Given the description of an element on the screen output the (x, y) to click on. 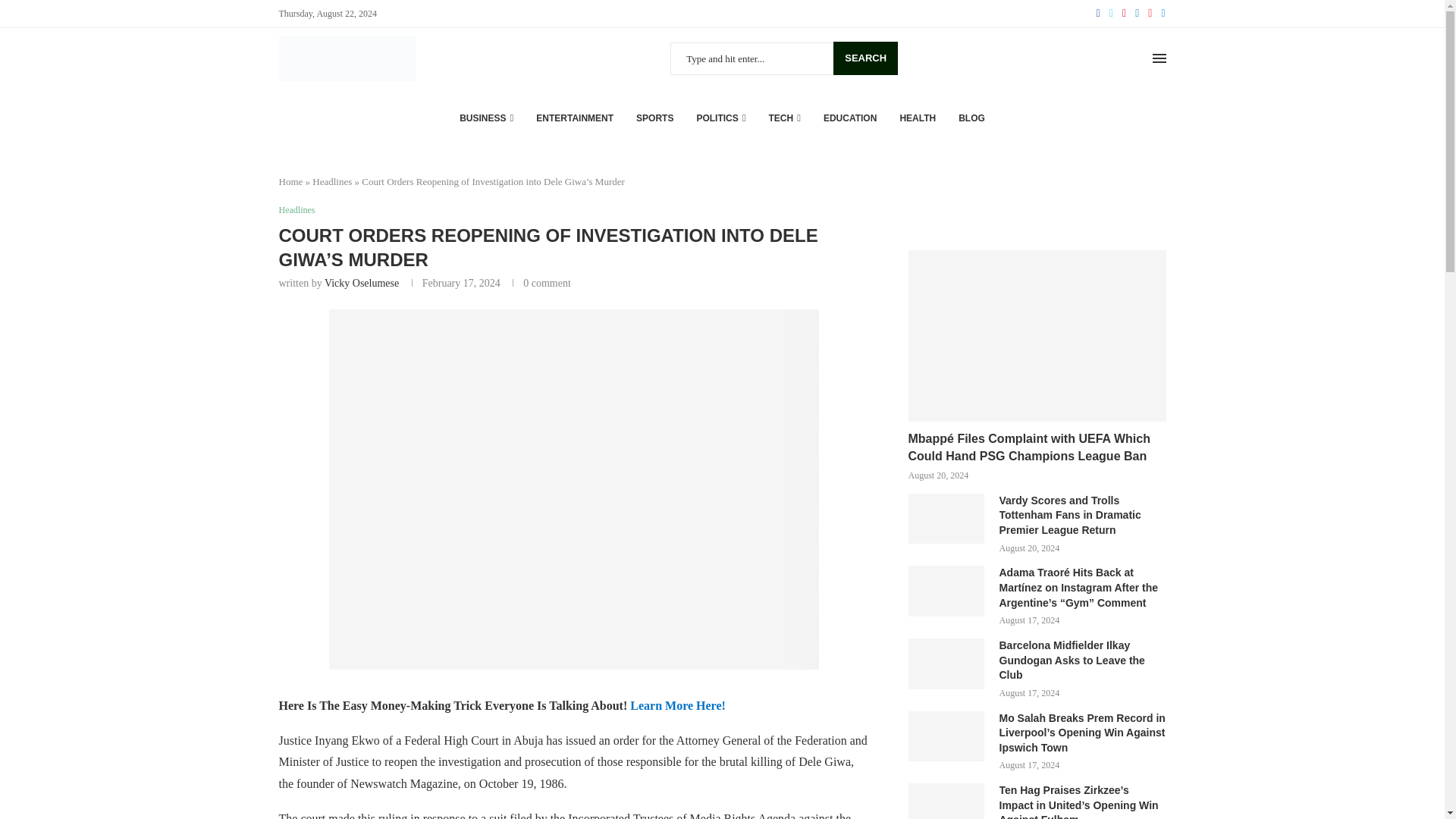
Barcelona Midfielder Ilkay Gundogan Asks to Leave the Club (1082, 660)
POLITICS (720, 118)
EDUCATION (850, 118)
Barcelona Midfielder Ilkay Gundogan Asks to Leave the Club (946, 663)
BUSINESS (486, 118)
ENTERTAINMENT (573, 118)
SEARCH (865, 57)
